Given the description of an element on the screen output the (x, y) to click on. 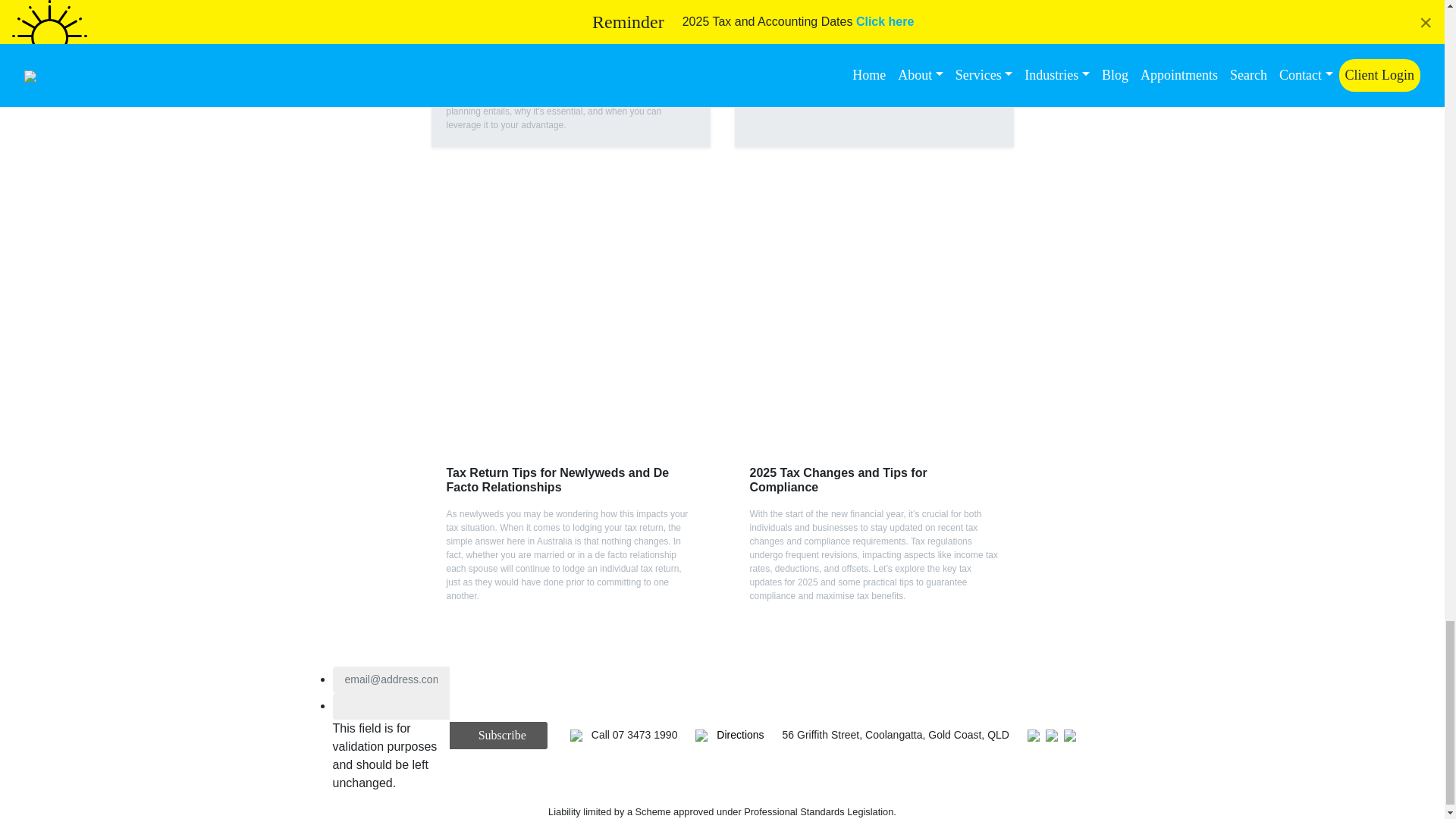
Subscribe (498, 735)
